Given the description of an element on the screen output the (x, y) to click on. 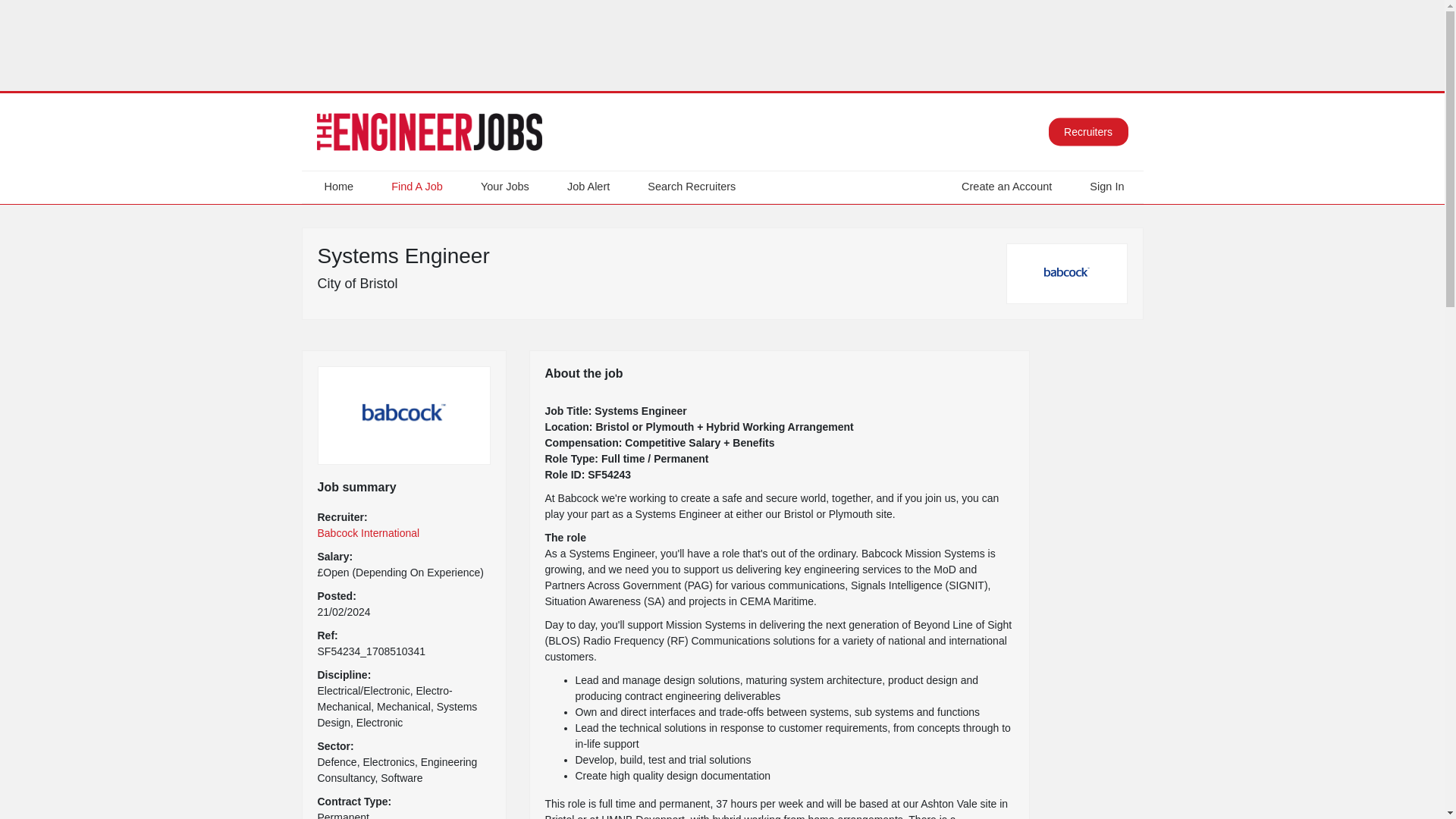
Babcock International (368, 532)
Create an Account (1006, 187)
Job Alert (588, 187)
3rd party ad content (721, 45)
Search Recruiters (691, 187)
Your Jobs (505, 187)
Home (339, 187)
Sign In (1106, 187)
Recruiters (1087, 131)
Find A Job (416, 187)
